Given the description of an element on the screen output the (x, y) to click on. 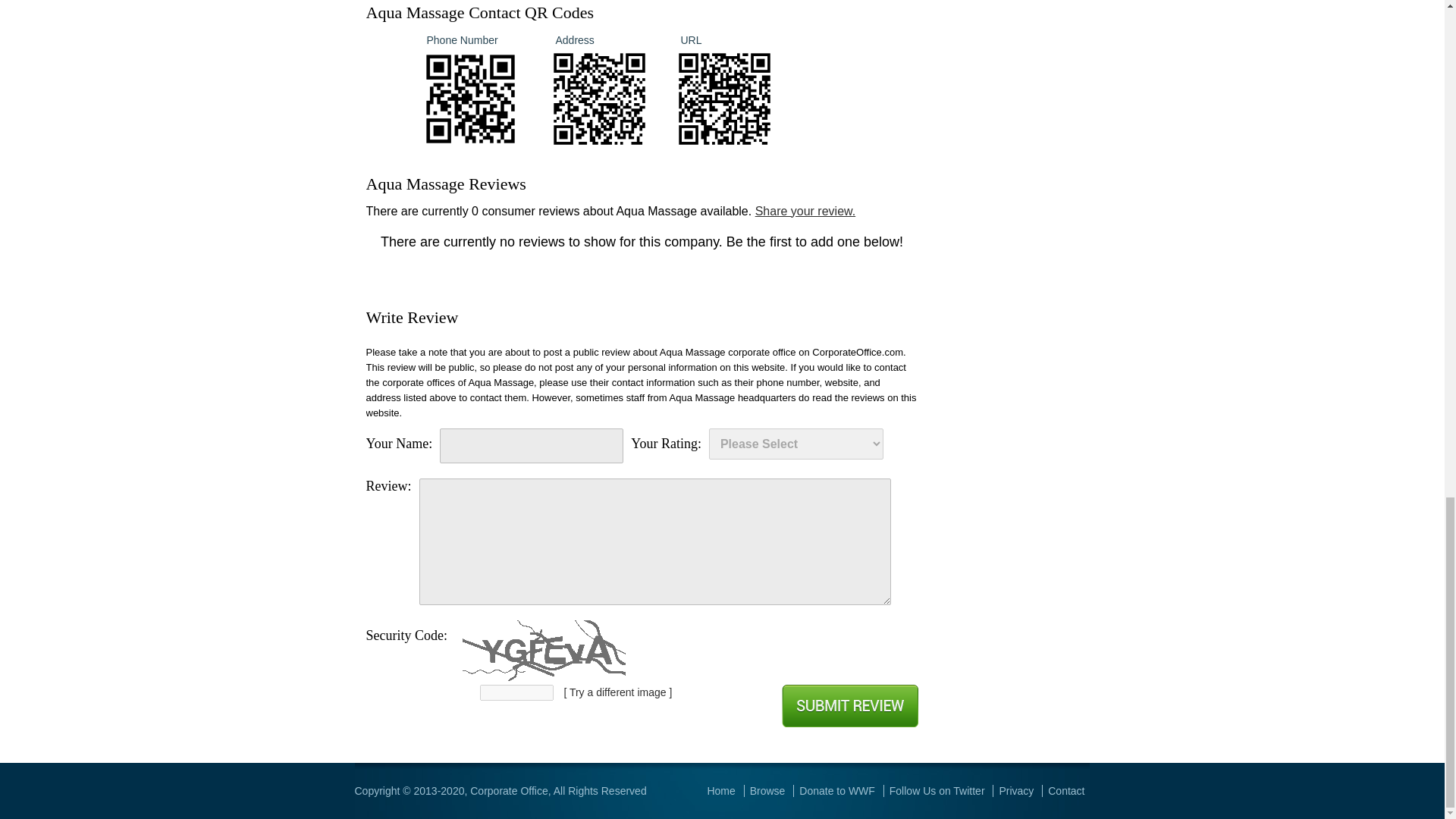
Privacy (1015, 790)
Corporate Office (508, 790)
Follow Us on Twitter (937, 790)
Browse (767, 790)
Contact (1066, 790)
Donate to WWF (837, 790)
Share your review. (805, 210)
Home (720, 790)
